Given the description of an element on the screen output the (x, y) to click on. 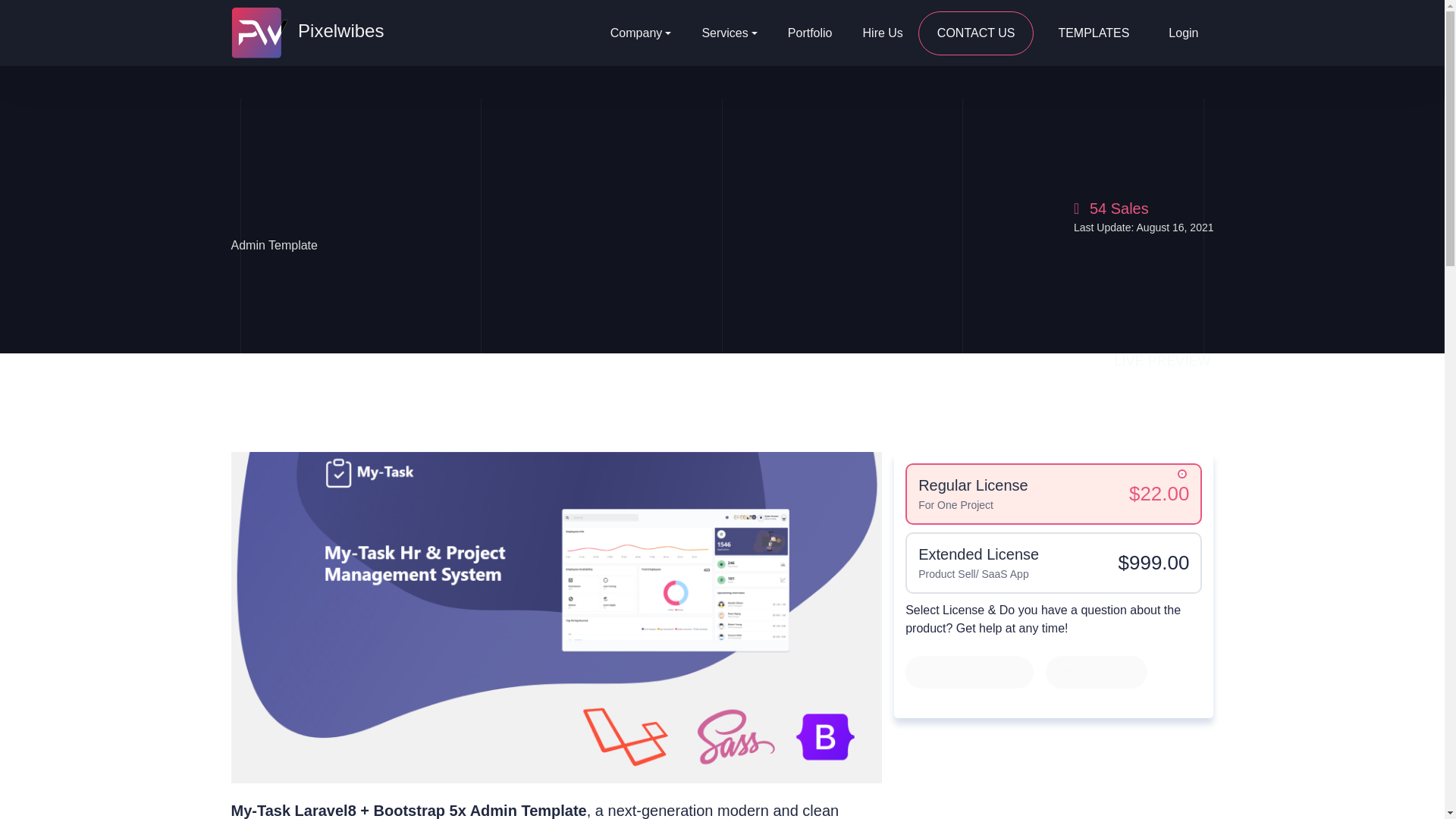
Company information (641, 33)
Services (728, 33)
services (728, 33)
ADD TO CART (969, 672)
Portfolio (810, 33)
TEMPLATES (1093, 33)
Login (1182, 33)
LIVE PREVIEW (1162, 361)
Pixelwibes (307, 32)
logo (307, 32)
Hire Us (882, 33)
CONTACT US (975, 32)
Company (641, 33)
BUY NOW (1096, 672)
